Given the description of an element on the screen output the (x, y) to click on. 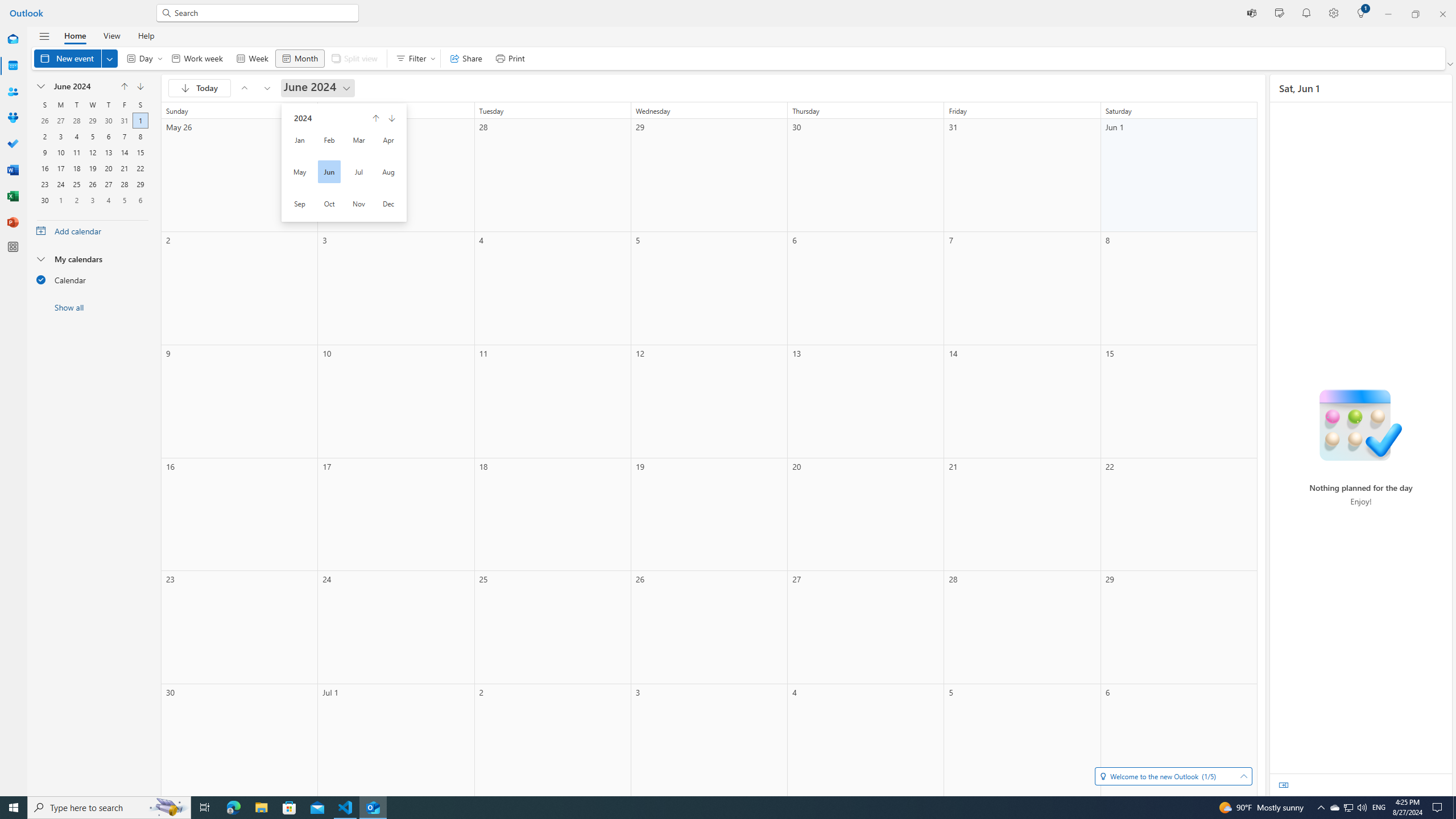
27, May, 2024 (60, 119)
Date selector (41, 86)
4, July, 2024 (108, 198)
29, June, 2024 (140, 183)
31, May, 2024 (124, 119)
